Given the description of an element on the screen output the (x, y) to click on. 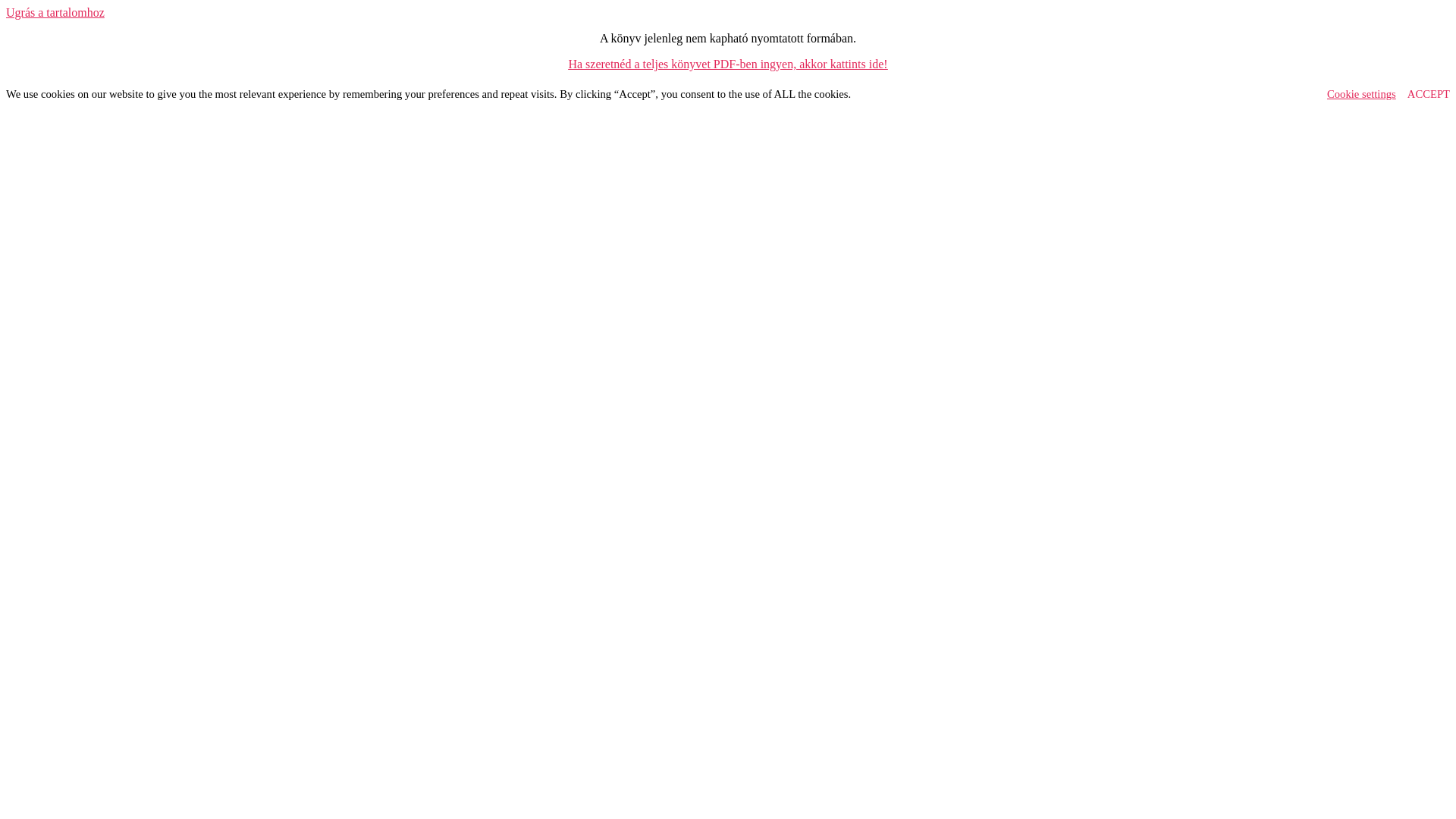
Cookie settings Element type: text (1361, 93)
ACCEPT Element type: text (1428, 93)
